Given the description of an element on the screen output the (x, y) to click on. 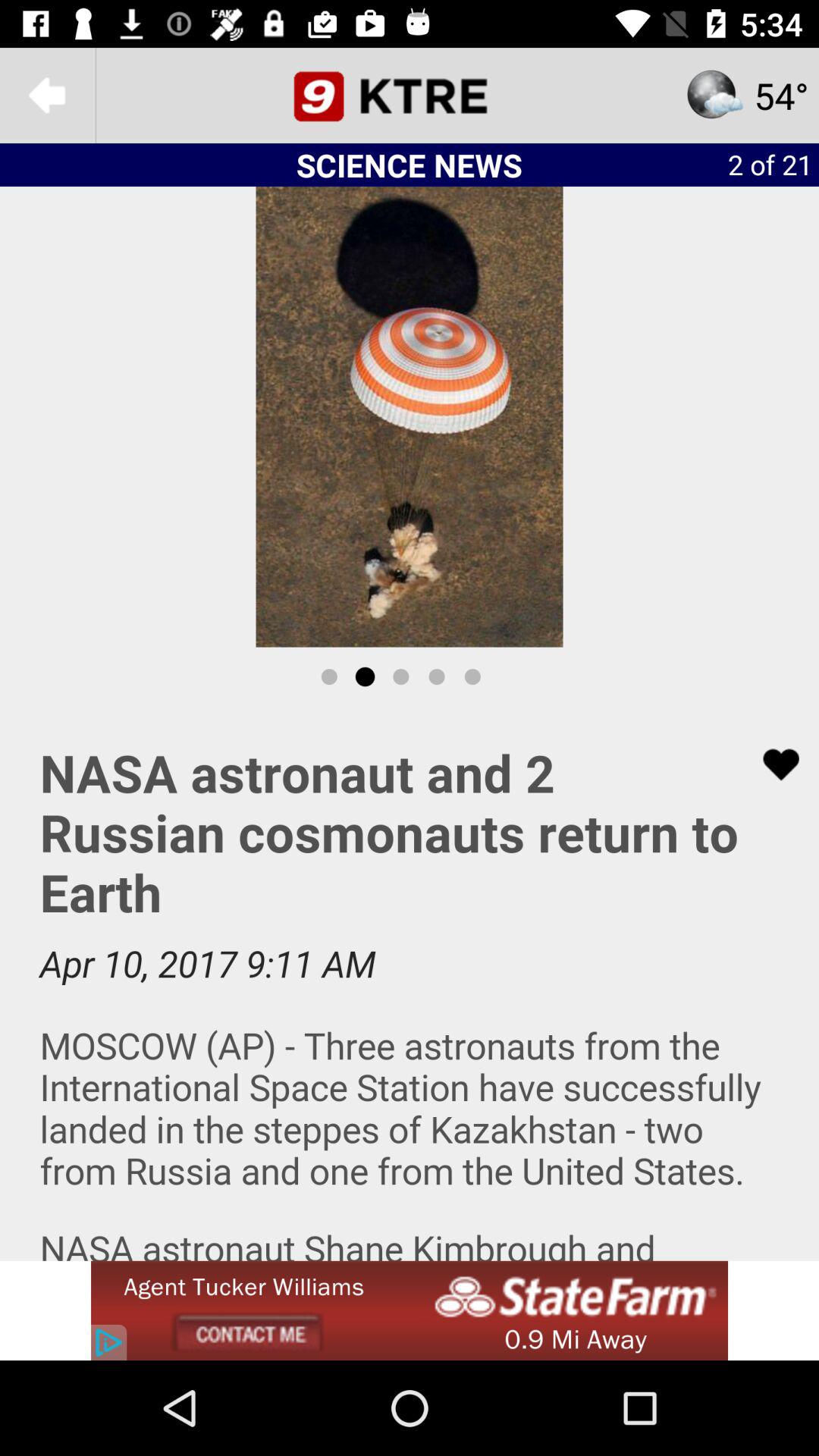
go to previous (47, 95)
